Given the description of an element on the screen output the (x, y) to click on. 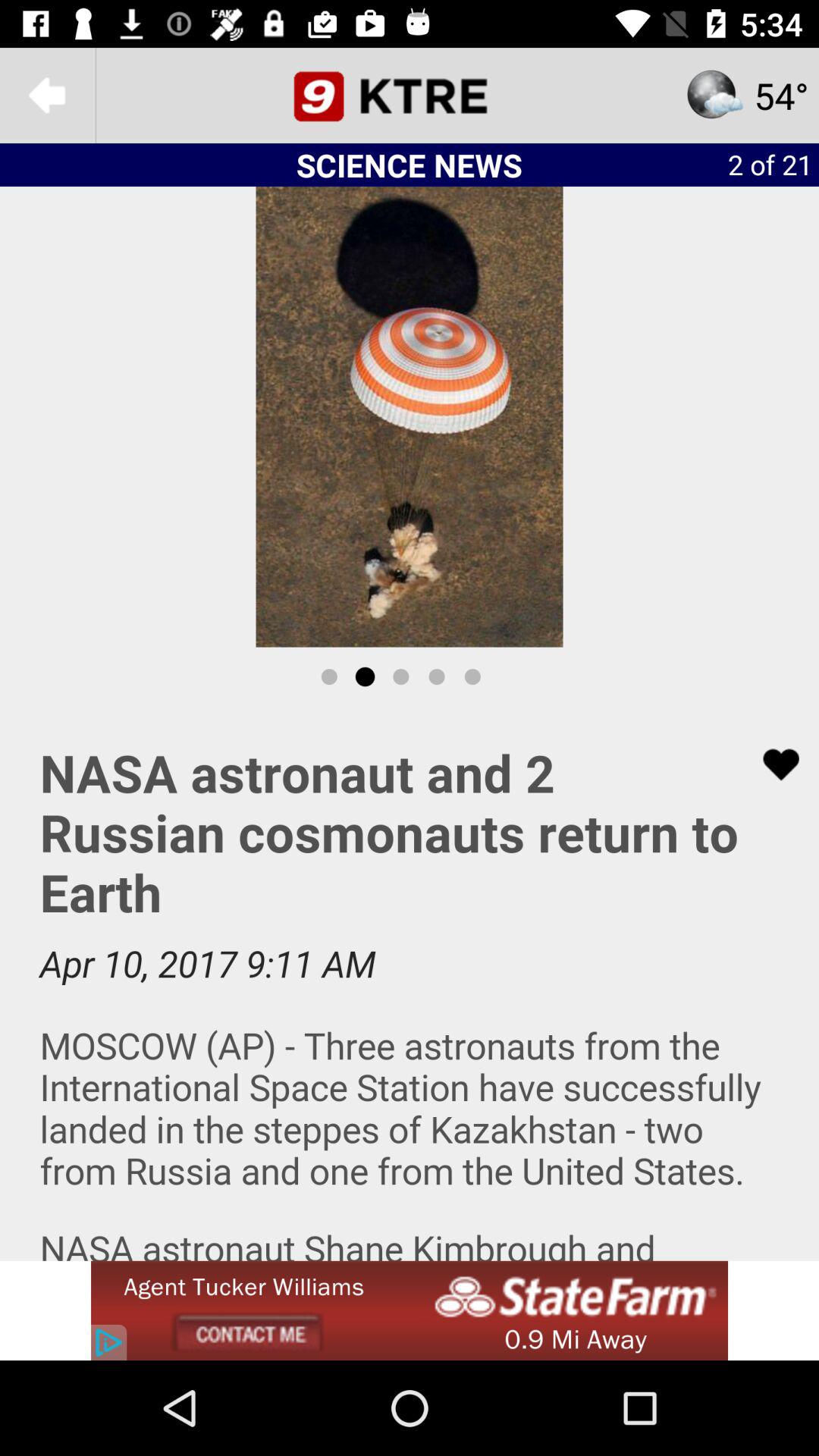
go to previous (47, 95)
